Given the description of an element on the screen output the (x, y) to click on. 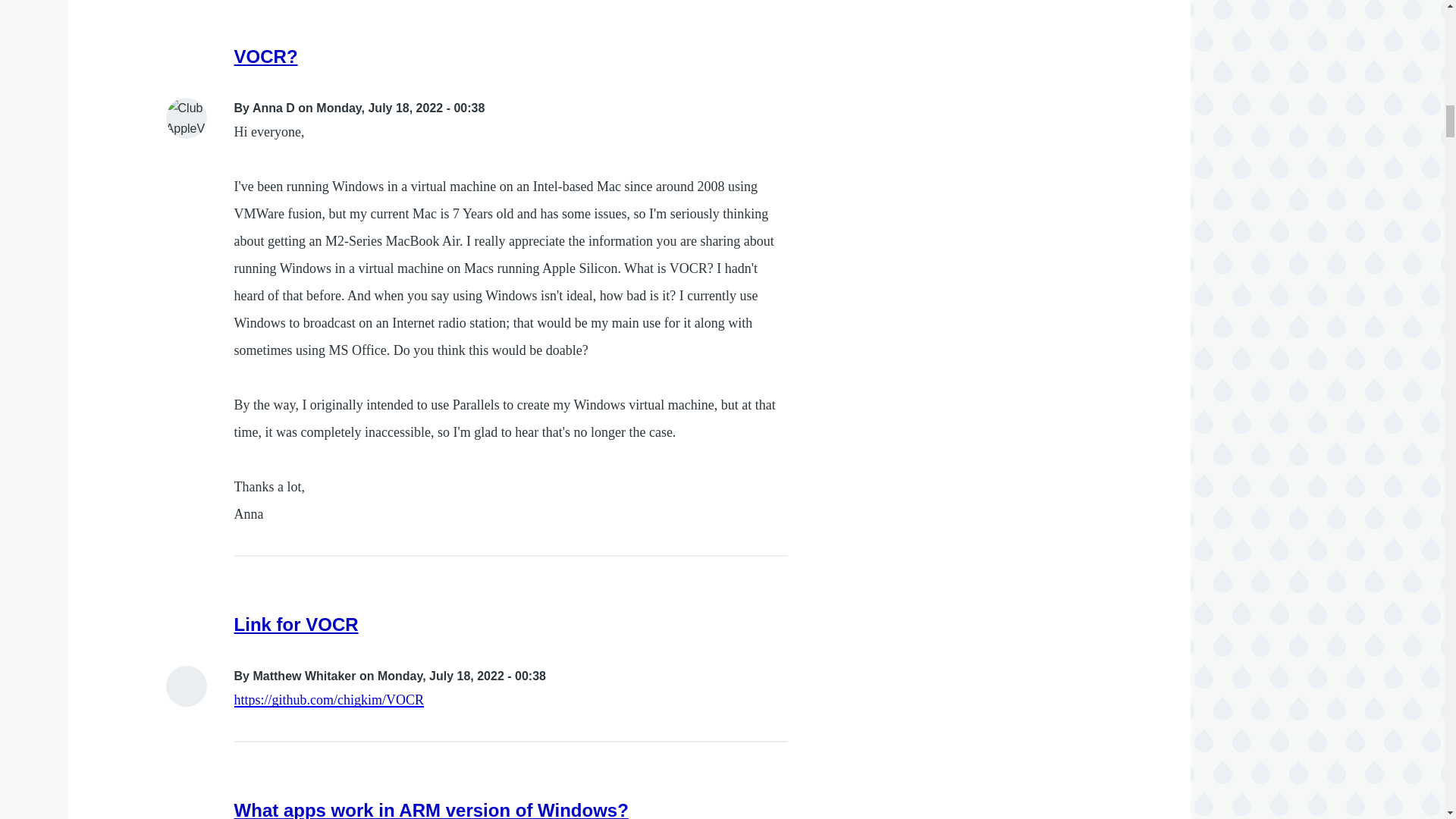
VOCR? (266, 55)
What apps work in ARM version of Windows? (431, 809)
Link for VOCR (296, 624)
